Given the description of an element on the screen output the (x, y) to click on. 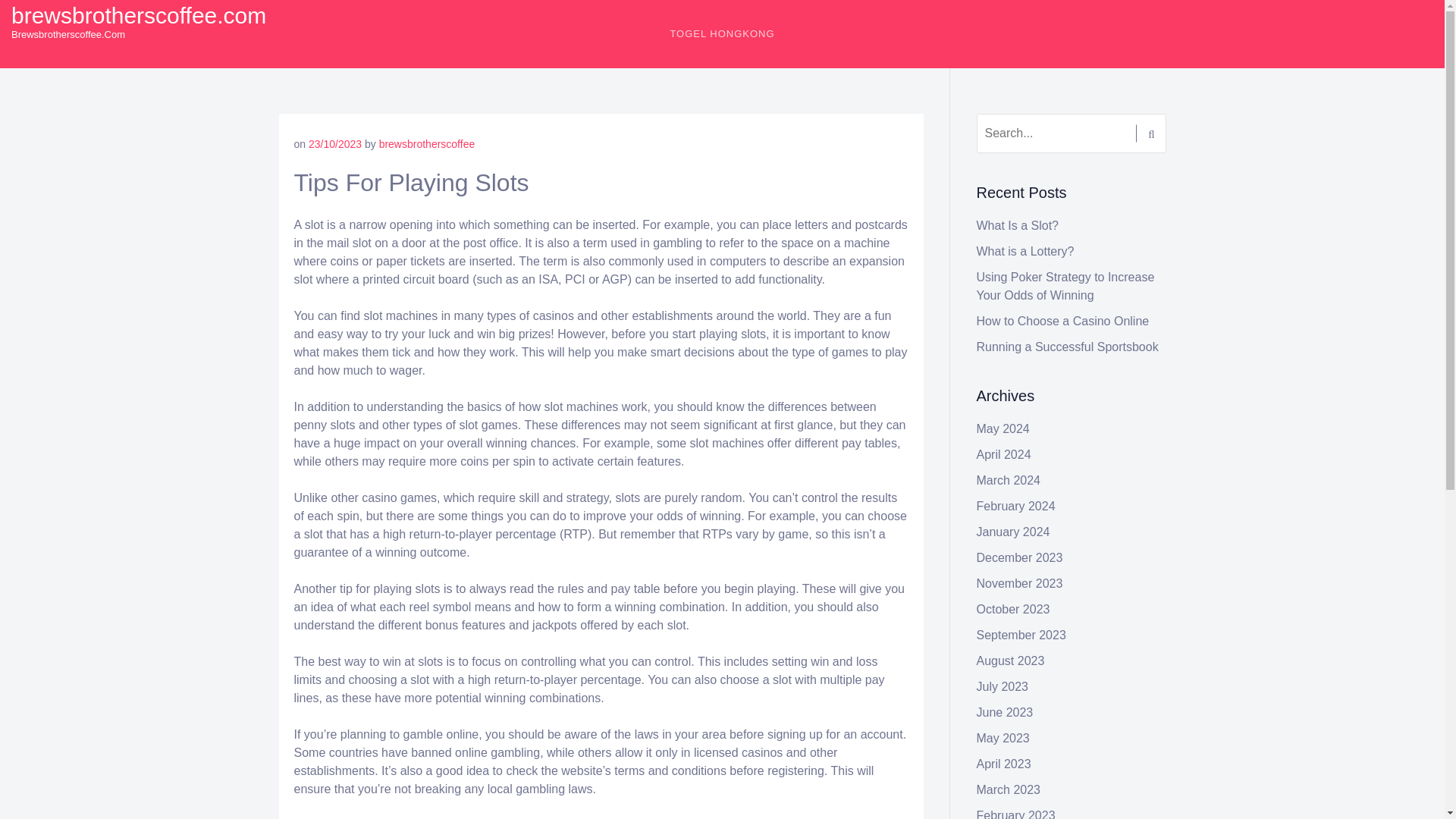
November 2023 (1019, 583)
TOGEL HONGKONG (722, 33)
brewsbrotherscoffee (427, 143)
Running a Successful Sportsbook (1067, 346)
brewsbrotherscoffee.com (138, 15)
March 2024 (1008, 480)
May 2024 (1002, 428)
May 2023 (1002, 738)
What Is a Slot? (1017, 225)
April 2024 (1003, 454)
